Given the description of an element on the screen output the (x, y) to click on. 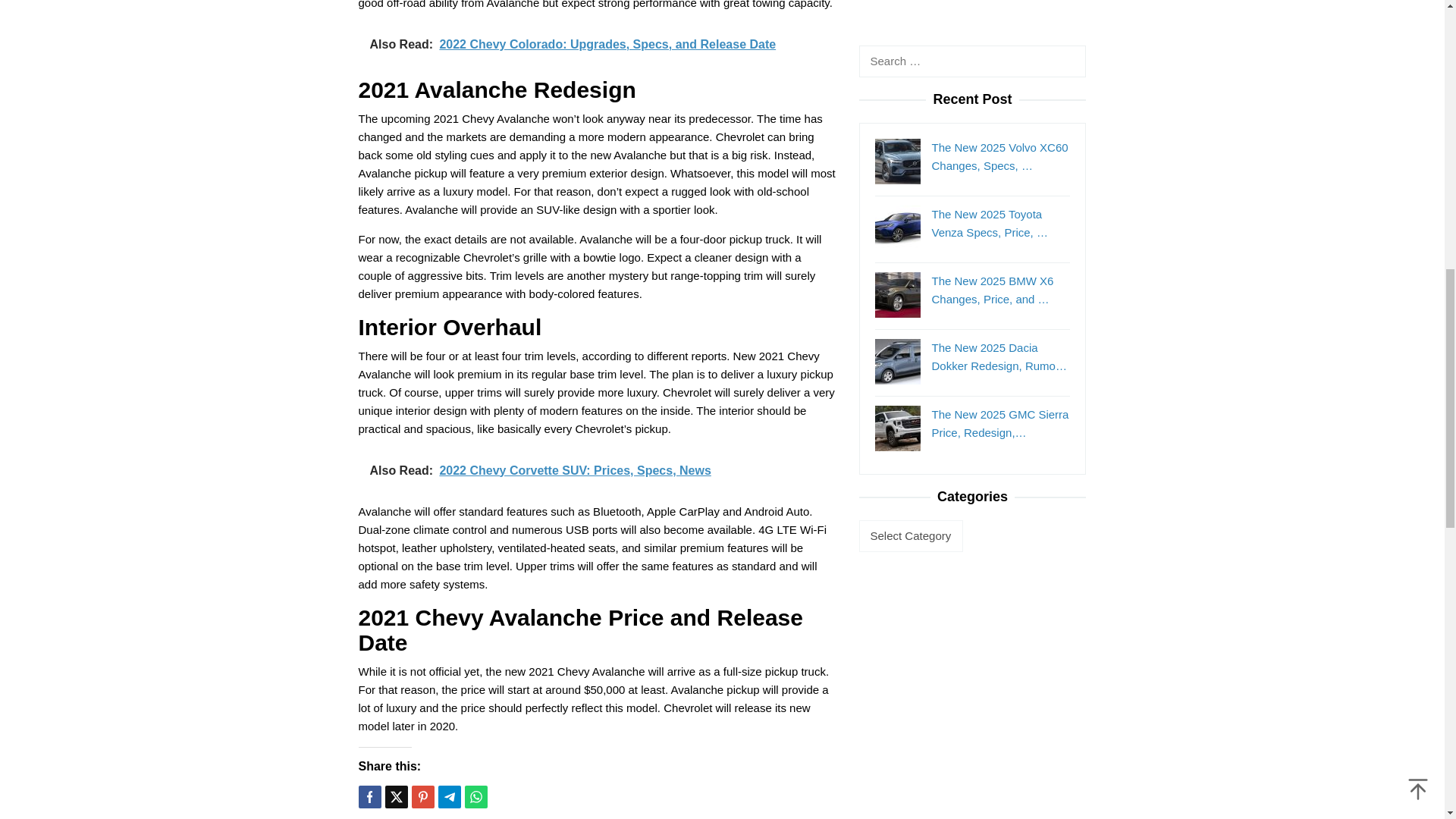
Telegram Share (449, 796)
Pin this (421, 796)
Tweet this (396, 796)
Share this (369, 796)
Whatsapp (475, 796)
